Given the description of an element on the screen output the (x, y) to click on. 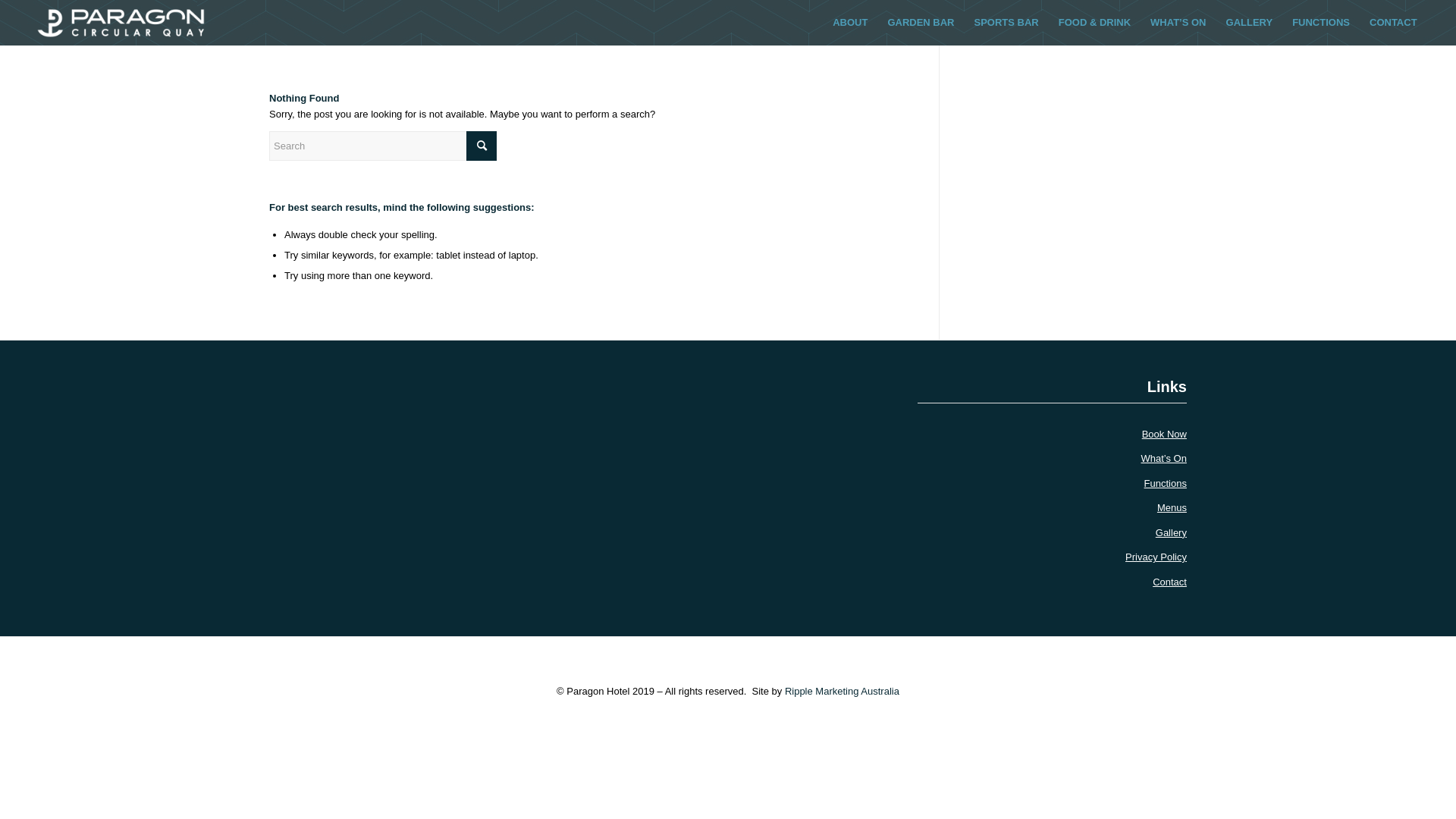
Menus Element type: text (1171, 507)
Ripple Marketing Australia Element type: text (841, 690)
GARDEN BAR Element type: text (920, 22)
Functions Element type: text (1165, 483)
ABOUT Element type: text (849, 22)
Privacy Policy Element type: text (1155, 556)
Contact Element type: text (1169, 581)
Book Now Element type: text (1164, 433)
GALLERY Element type: text (1249, 22)
FOOD & DRINK Element type: text (1094, 22)
CONTACT Element type: text (1393, 22)
FUNCTIONS Element type: text (1320, 22)
SPORTS BAR Element type: text (1006, 22)
Gallery Element type: text (1170, 532)
